Given the description of an element on the screen output the (x, y) to click on. 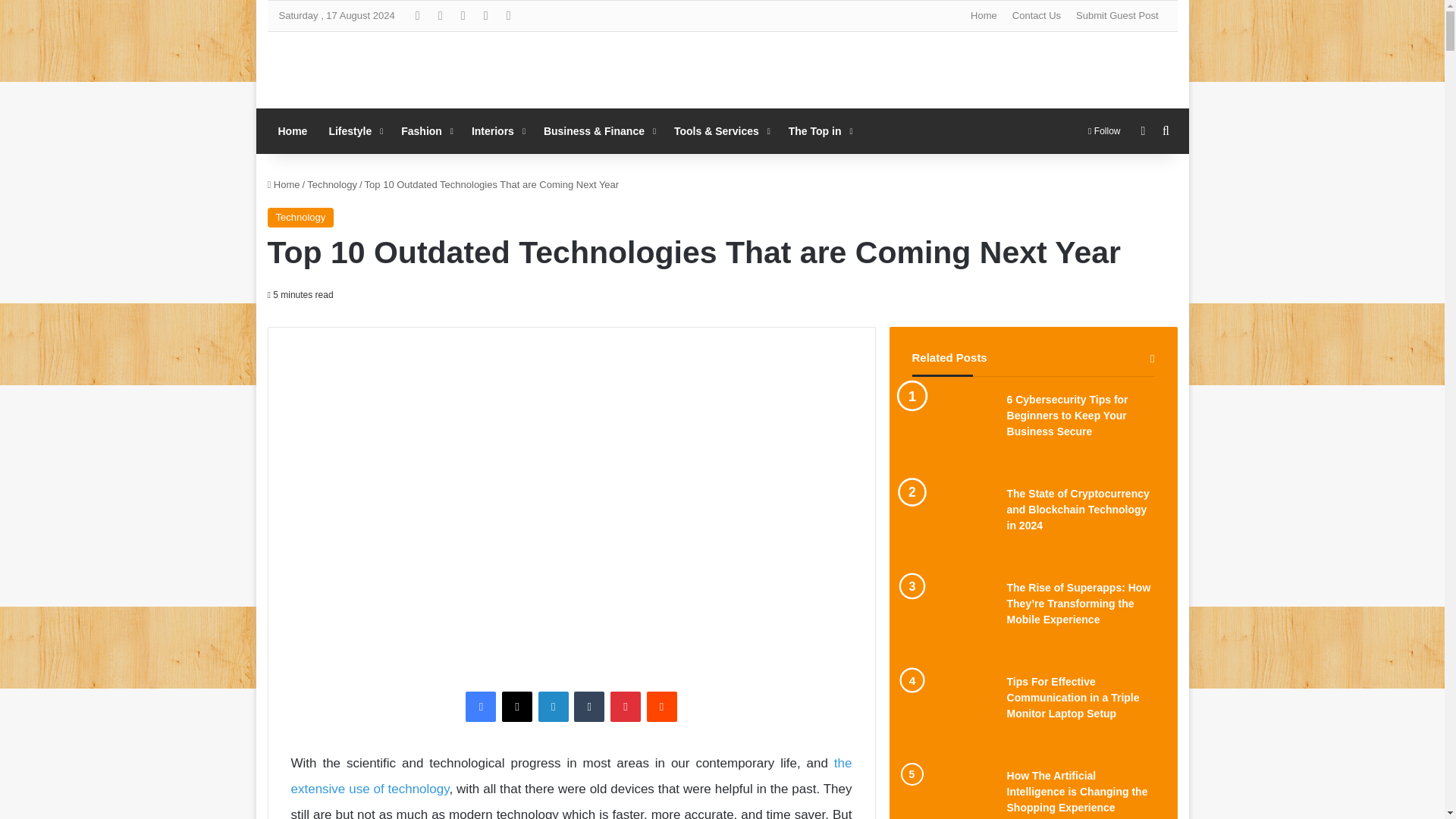
Contact Us (1036, 15)
Home (291, 130)
Home (983, 15)
Tumblr (588, 706)
Facebook (480, 706)
Lifestyle (353, 130)
X (517, 706)
Reddit (661, 706)
Fashion (425, 130)
Pinterest (625, 706)
